Given the description of an element on the screen output the (x, y) to click on. 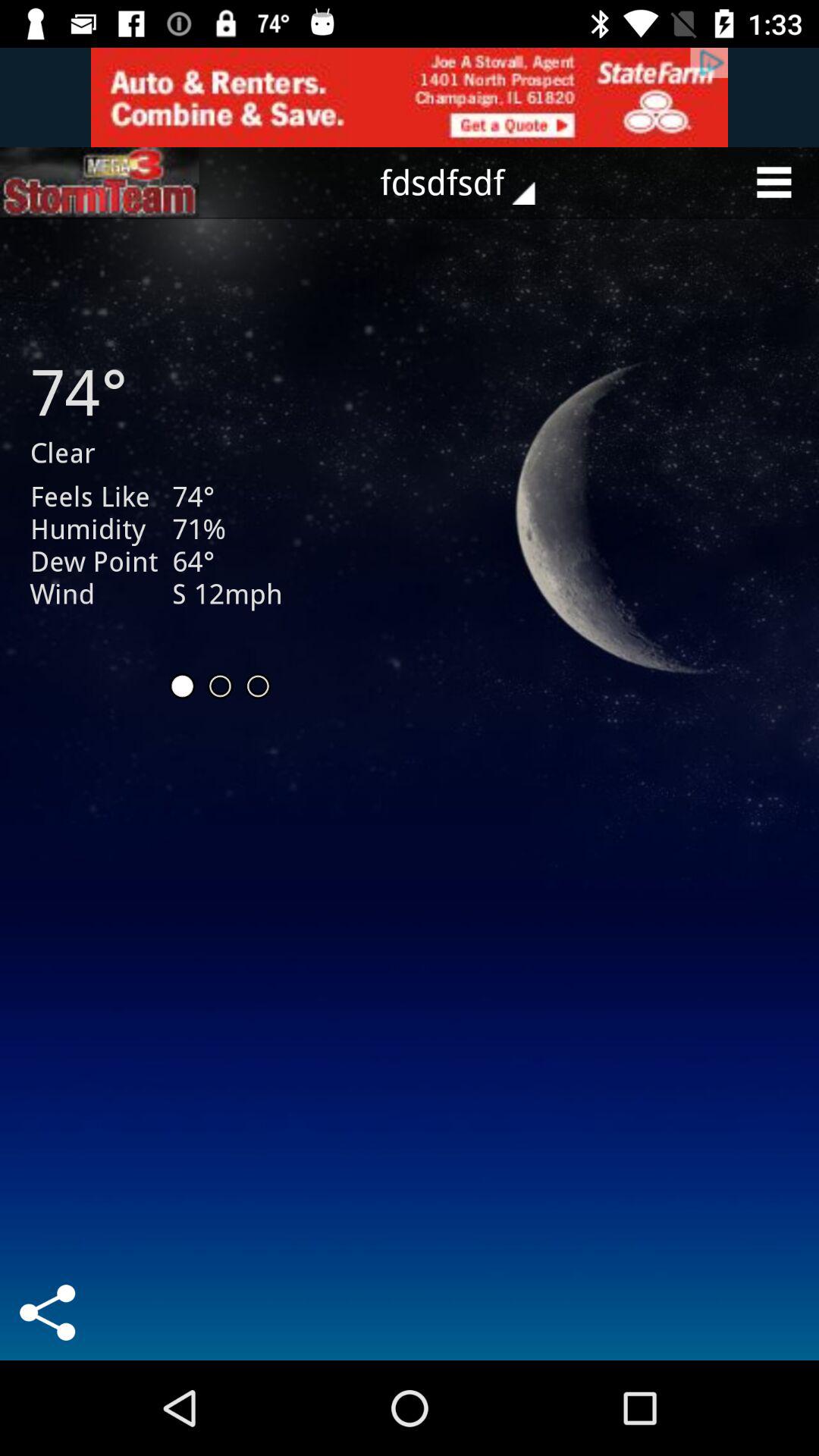
advertiser banner (409, 97)
